Given the description of an element on the screen output the (x, y) to click on. 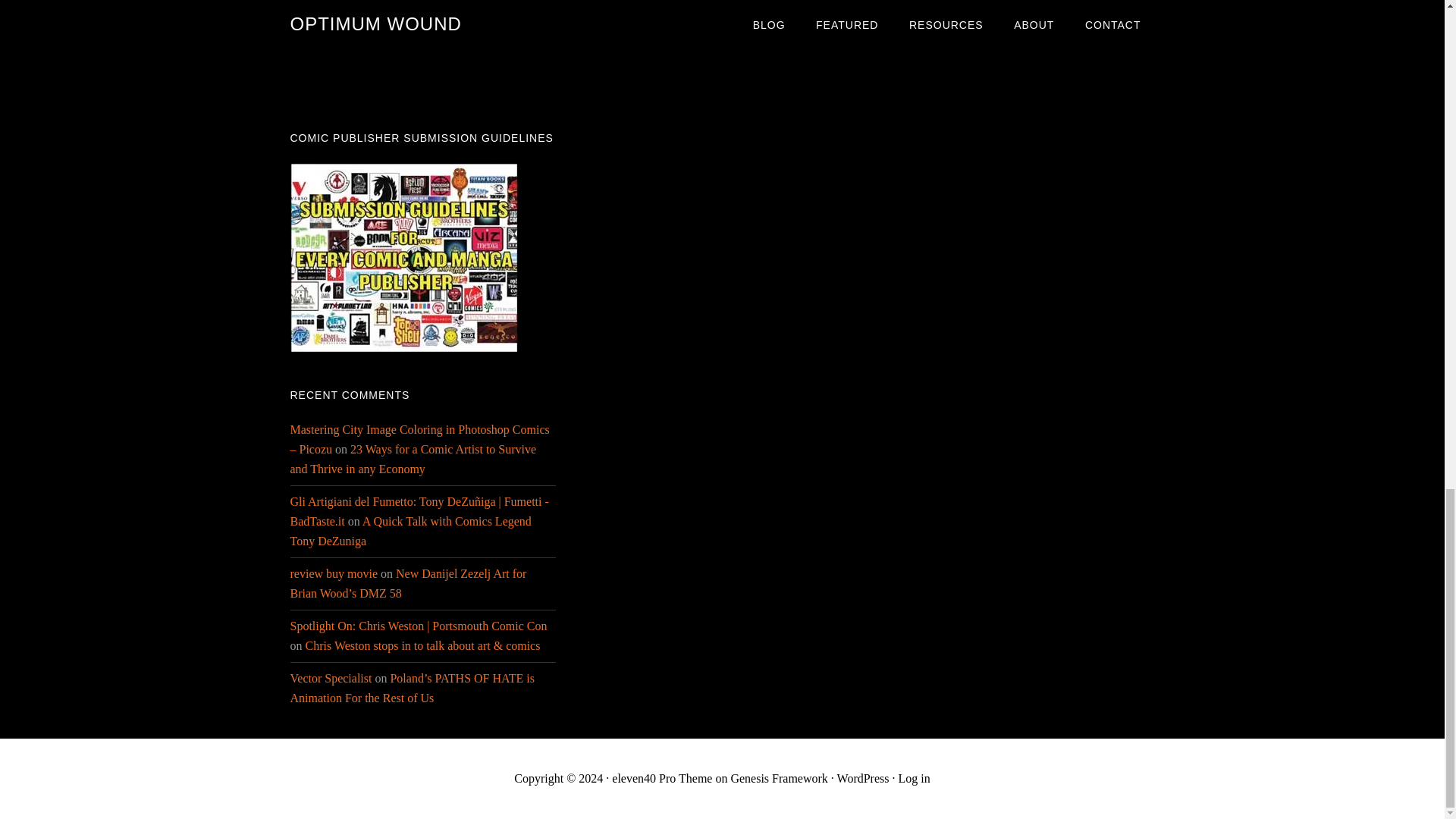
WordPress (863, 778)
Genesis Framework (778, 778)
Log in (914, 778)
Vector Specialist (330, 677)
review buy movie (333, 573)
A Quick Talk with Comics Legend Tony DeZuniga (410, 531)
eleven40 Pro Theme (661, 778)
